Given the description of an element on the screen output the (x, y) to click on. 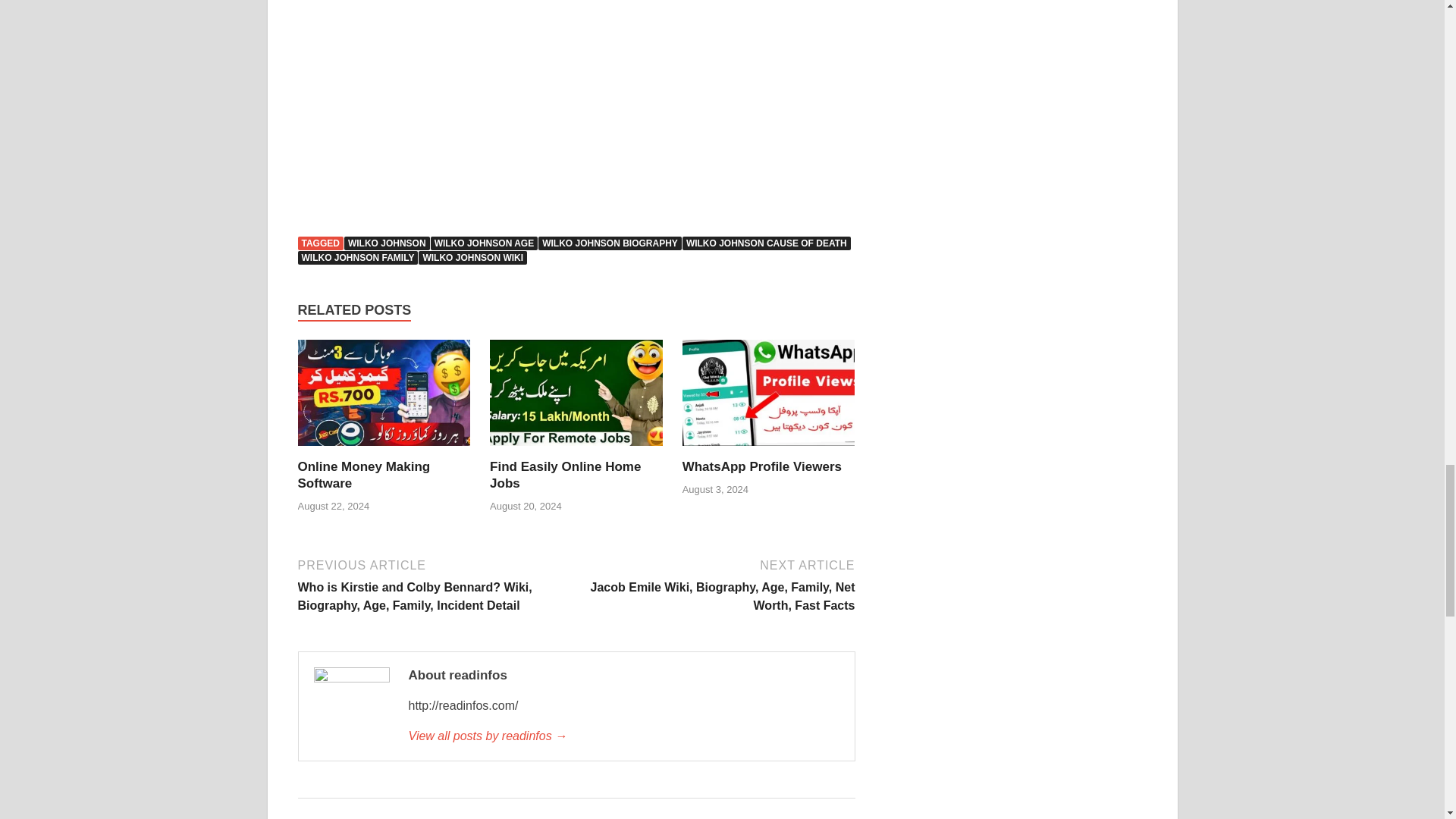
Find Easily Online Home Jobs (564, 474)
Online Money Making Software (383, 398)
WILKO JOHNSON AGE (484, 243)
Online Money Making Software (363, 474)
WILKO JOHNSON CAUSE OF DEATH (766, 243)
WhatsApp Profile Viewers (761, 466)
WILKO JOHNSON BIOGRAPHY (609, 243)
readinfos (622, 736)
WILKO JOHNSON WIKI (473, 257)
